Given the description of an element on the screen output the (x, y) to click on. 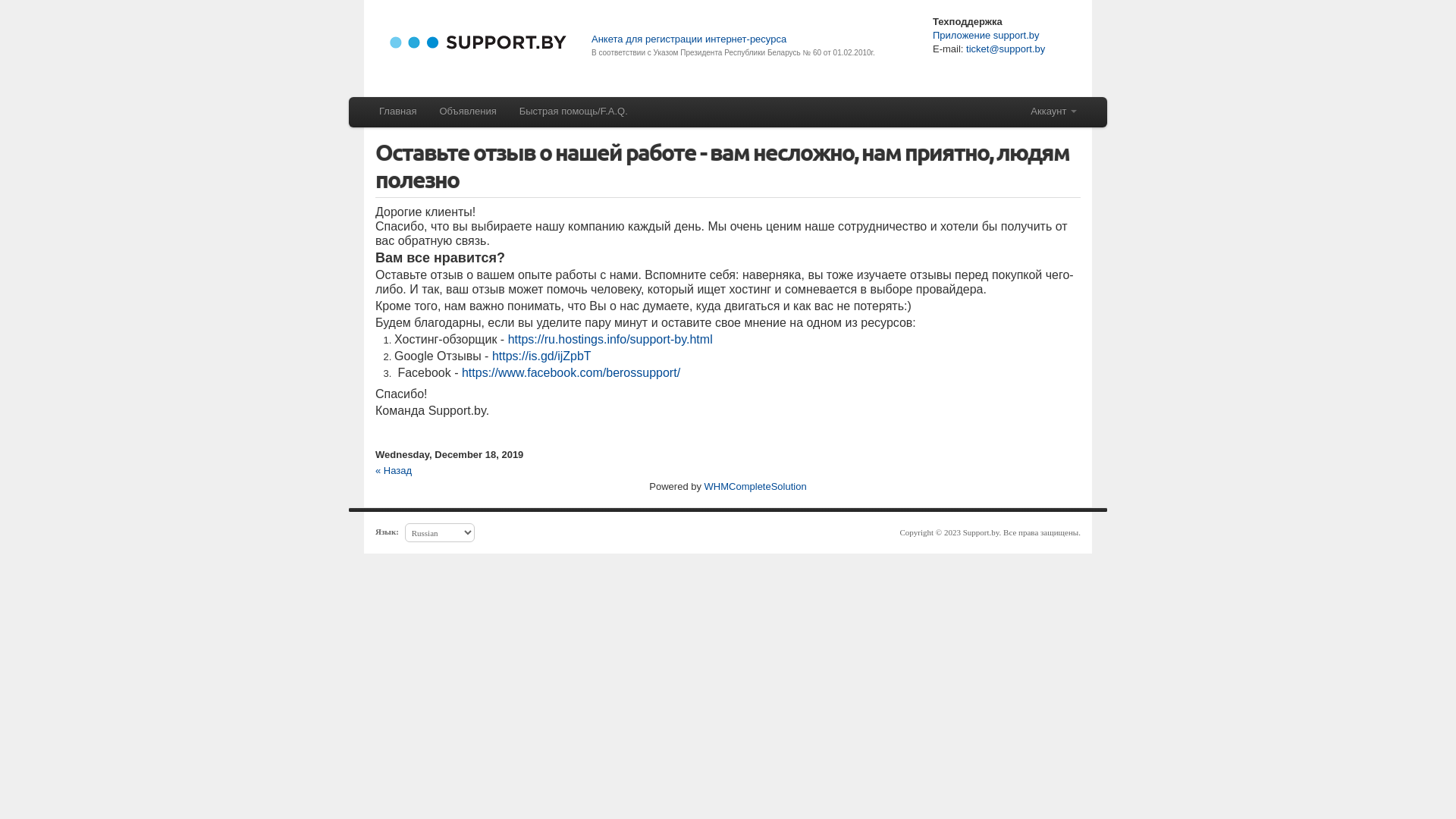
https://is.gd/ijZpbT Element type: text (541, 355)
https://ru.hostings.info/support-by.html Element type: text (610, 338)
WHMCompleteSolution Element type: text (755, 486)
ticket@support.by Element type: text (1003, 48)
https://www.facebook.com/berossupport/ Element type: text (570, 372)
